Given the description of an element on the screen output the (x, y) to click on. 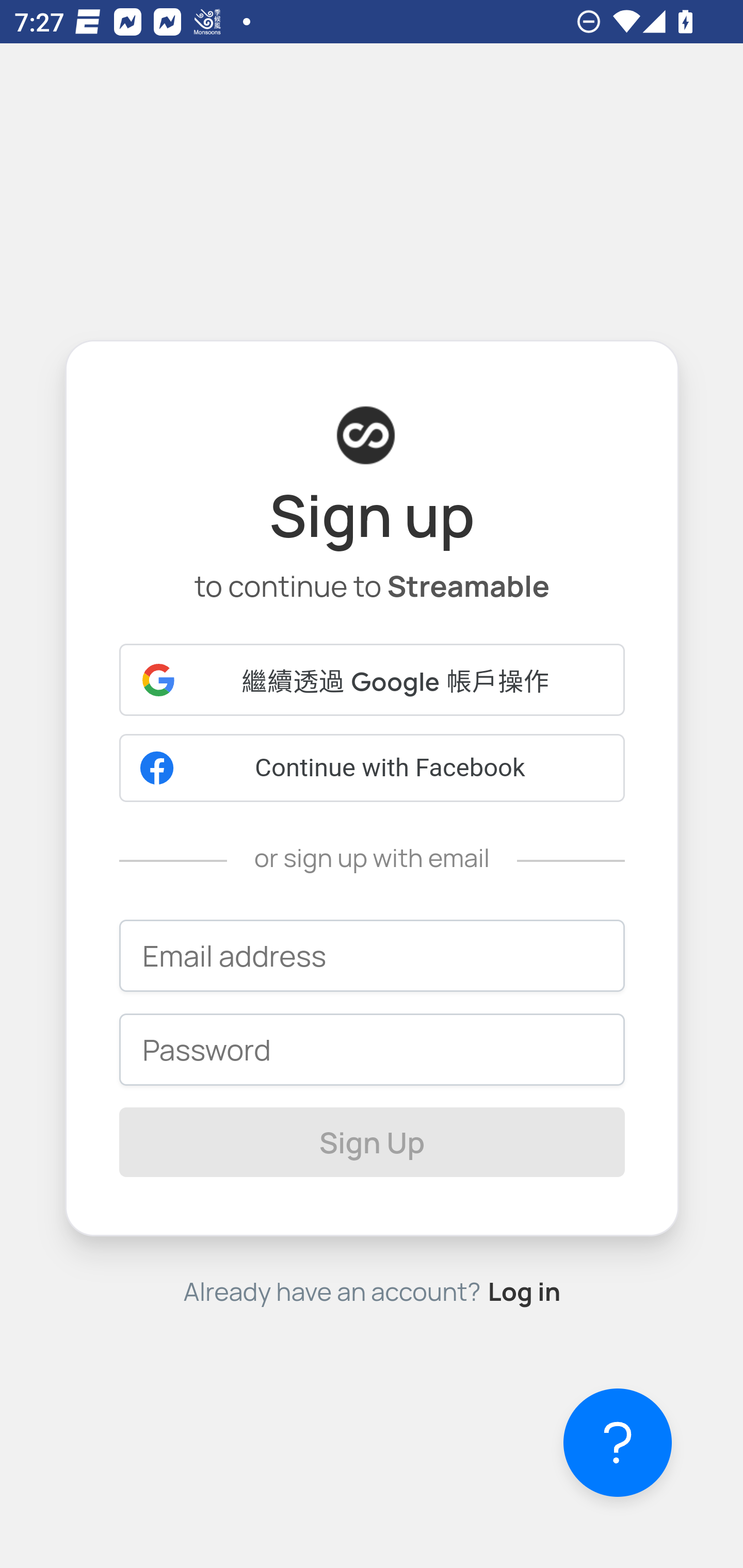
繼續透過 Google 帳戶操作 (372, 679)
Continue with Facebook (372, 767)
Sign Up (372, 1142)
